Given the description of an element on the screen output the (x, y) to click on. 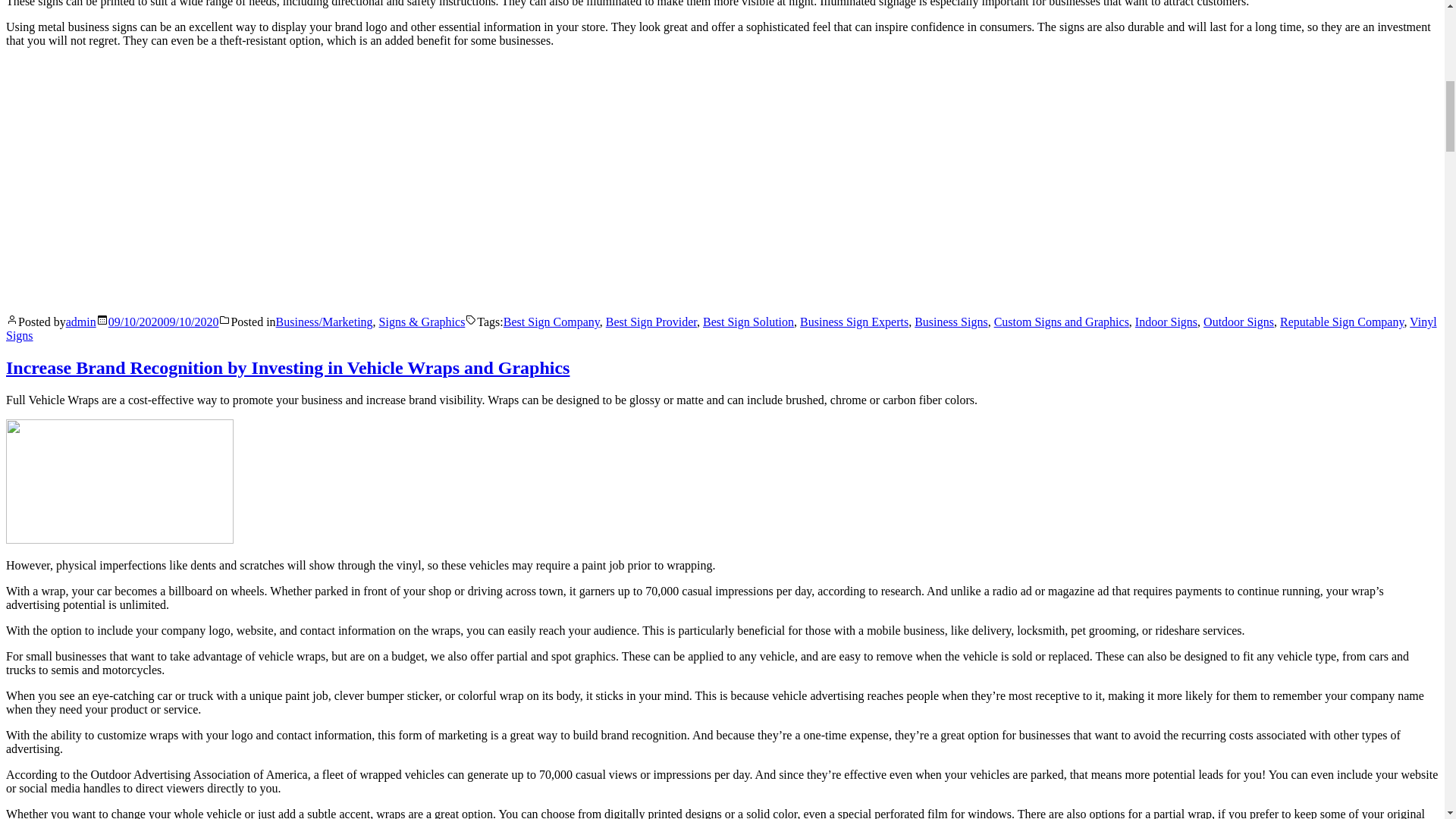
Custom Signs and Graphics (1061, 321)
Business Sign Experts (853, 321)
Reputable Sign Company (1341, 321)
Best Sign Provider (651, 321)
Business Signs (950, 321)
admin (80, 321)
Outdoor Signs (1239, 321)
Indoor Signs (1165, 321)
Best Sign Solution (748, 321)
Best Sign Company (551, 321)
YouTube video player (217, 178)
